Given the description of an element on the screen output the (x, y) to click on. 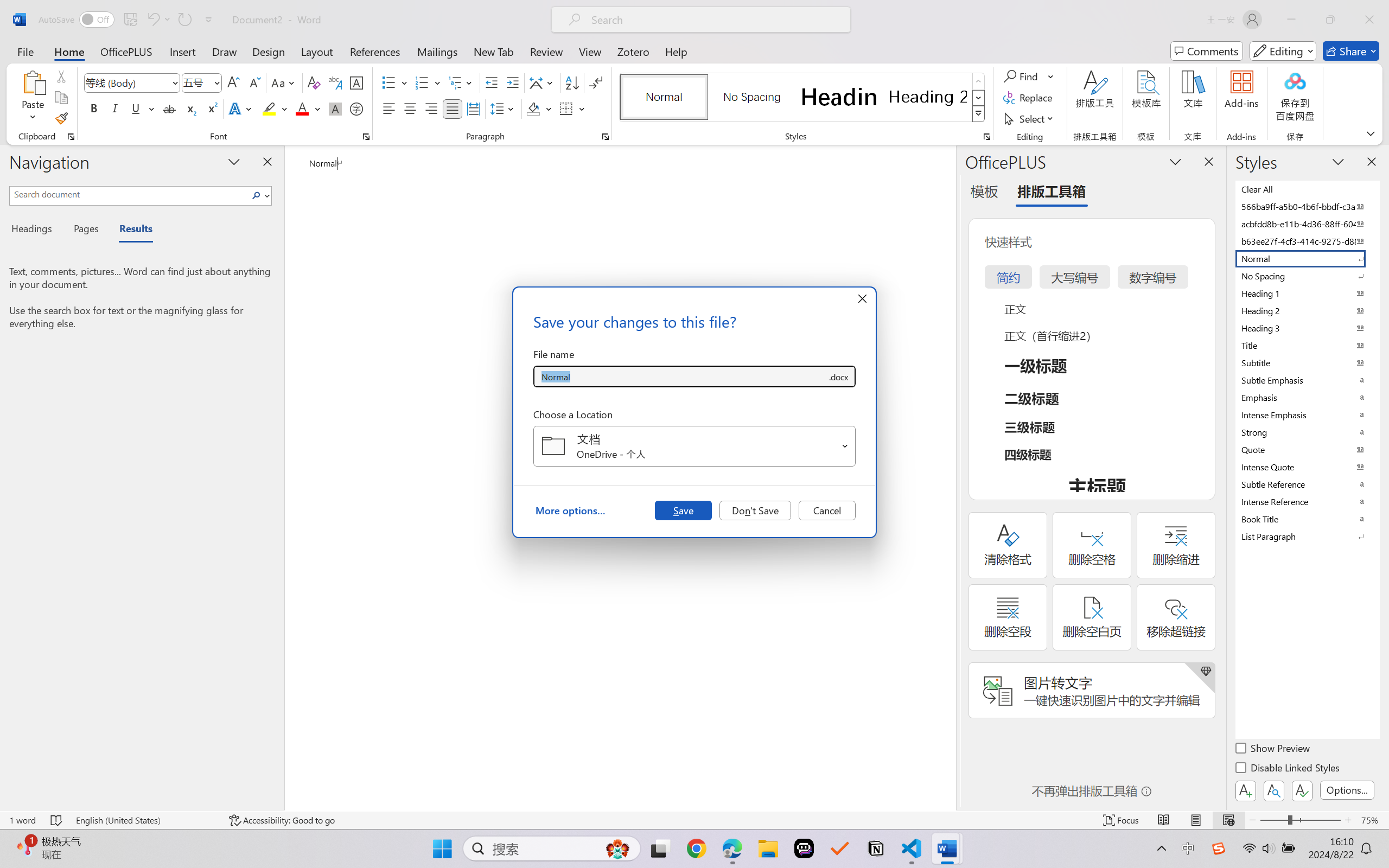
Draw (224, 51)
Line and Paragraph Spacing (503, 108)
Options... (1346, 789)
Class: NetUIImage (978, 114)
Grow Font (233, 82)
Cut (60, 75)
